Given the description of an element on the screen output the (x, y) to click on. 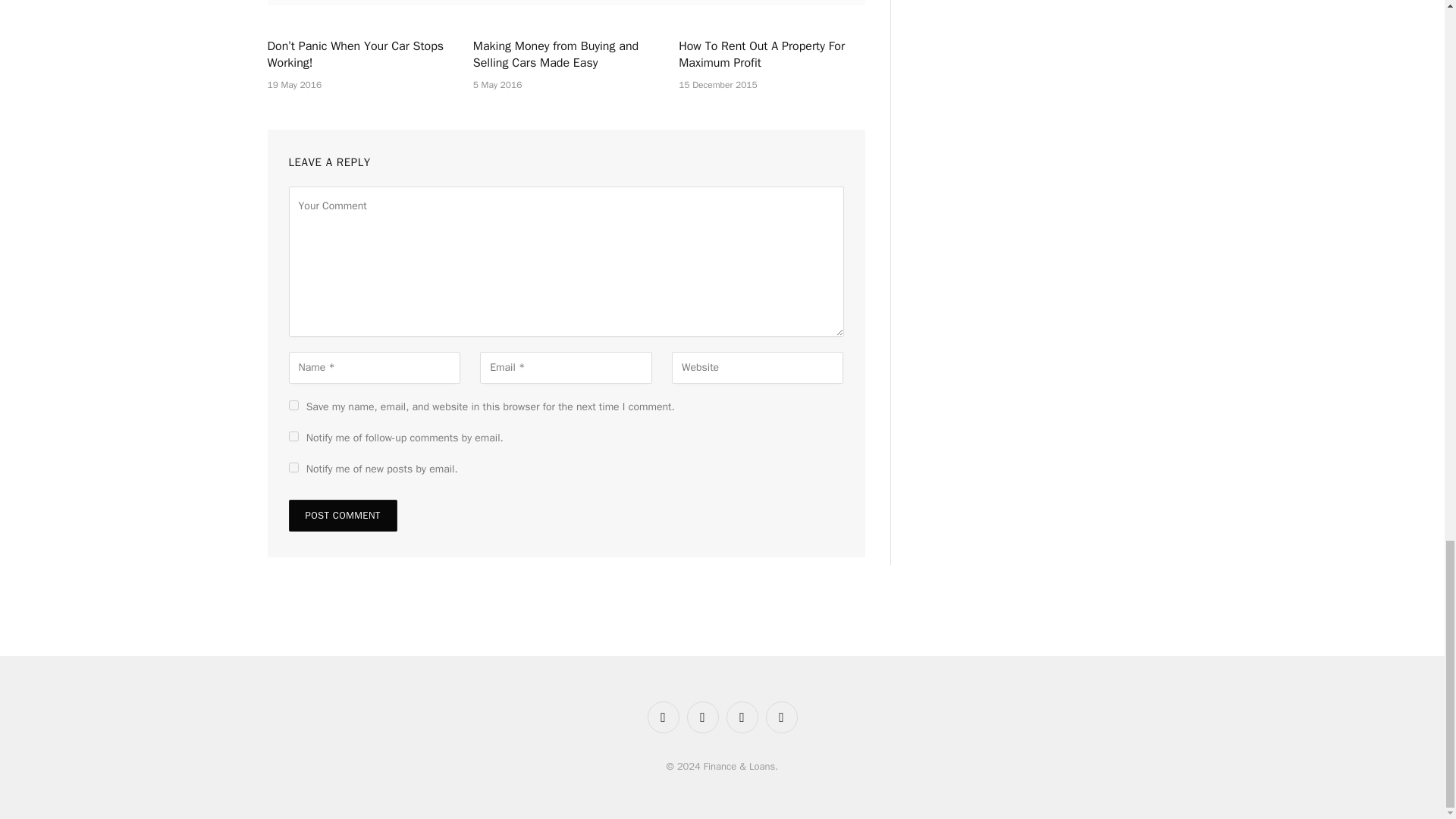
Post Comment (342, 515)
How To Rent Out A Property For Maximum Profit (771, 55)
subscribe (293, 467)
Making Money from Buying and Selling Cars Made Easy (566, 55)
yes (293, 405)
Post Comment (342, 515)
subscribe (293, 436)
